Given the description of an element on the screen output the (x, y) to click on. 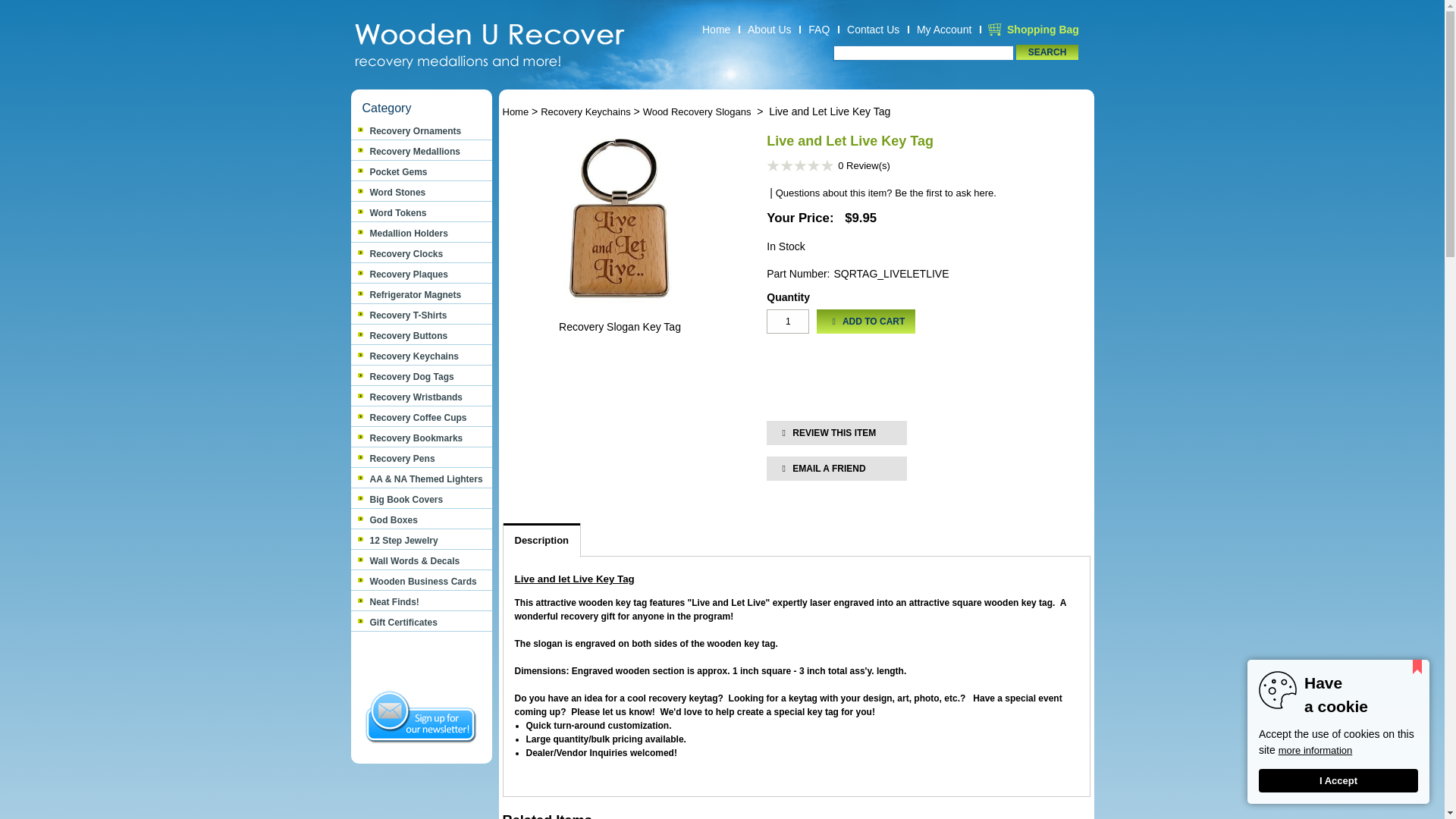
About Us (769, 29)
Word Stones (421, 192)
12 Step Jewelry (421, 540)
Pocket Gems (421, 172)
Wooden Business Cards (421, 581)
Recovery Ornaments (421, 131)
1 (788, 321)
Recovery Coffee Cups (421, 417)
God Boxes (421, 520)
Recovery Wristbands (421, 397)
Big Book Covers (421, 499)
Medallion Holders (421, 233)
Recovery Medallions (421, 151)
Home (716, 29)
Recovery Keychains (421, 356)
